Given the description of an element on the screen output the (x, y) to click on. 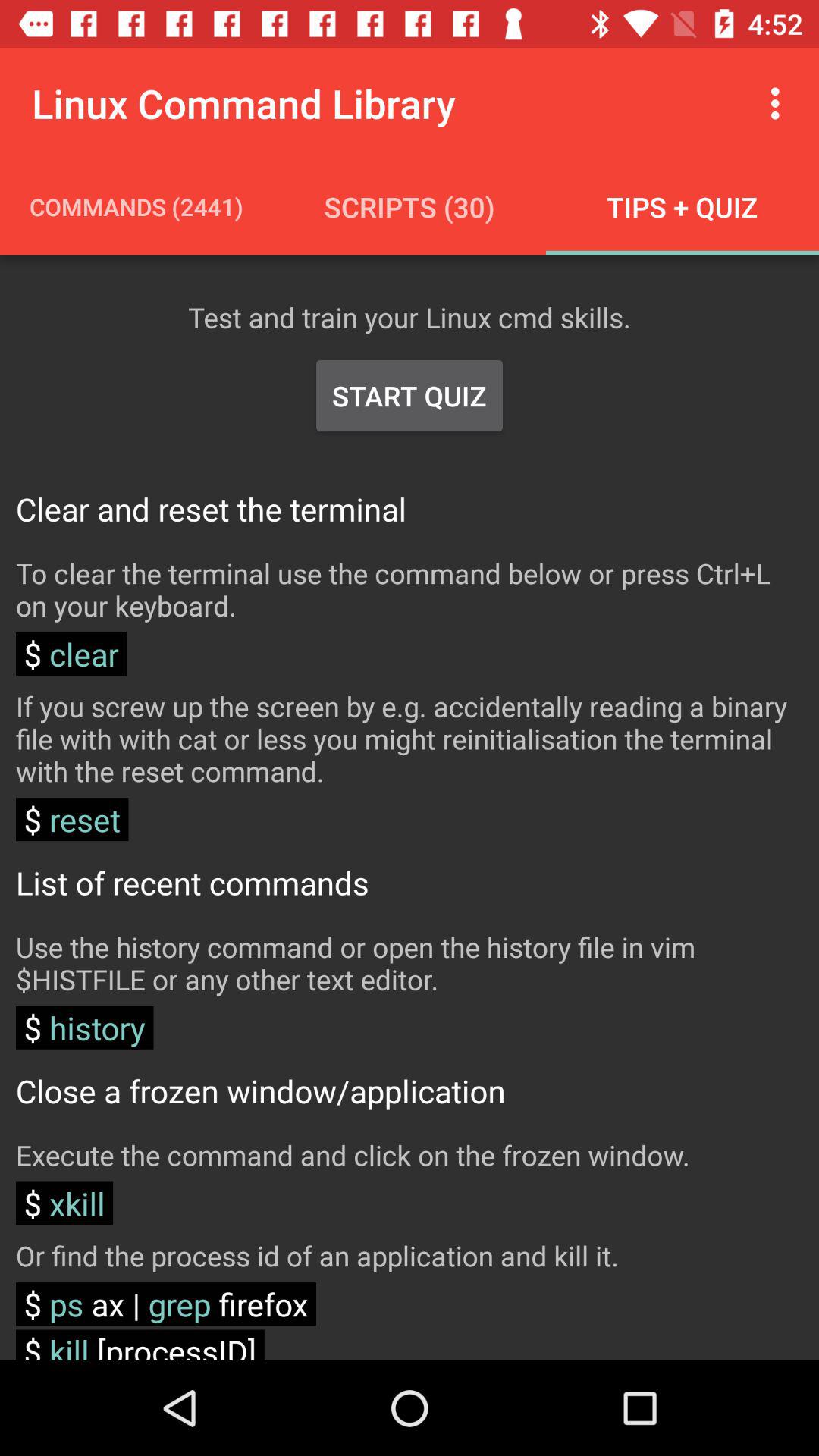
tap ps ax grep item (165, 1303)
